Given the description of an element on the screen output the (x, y) to click on. 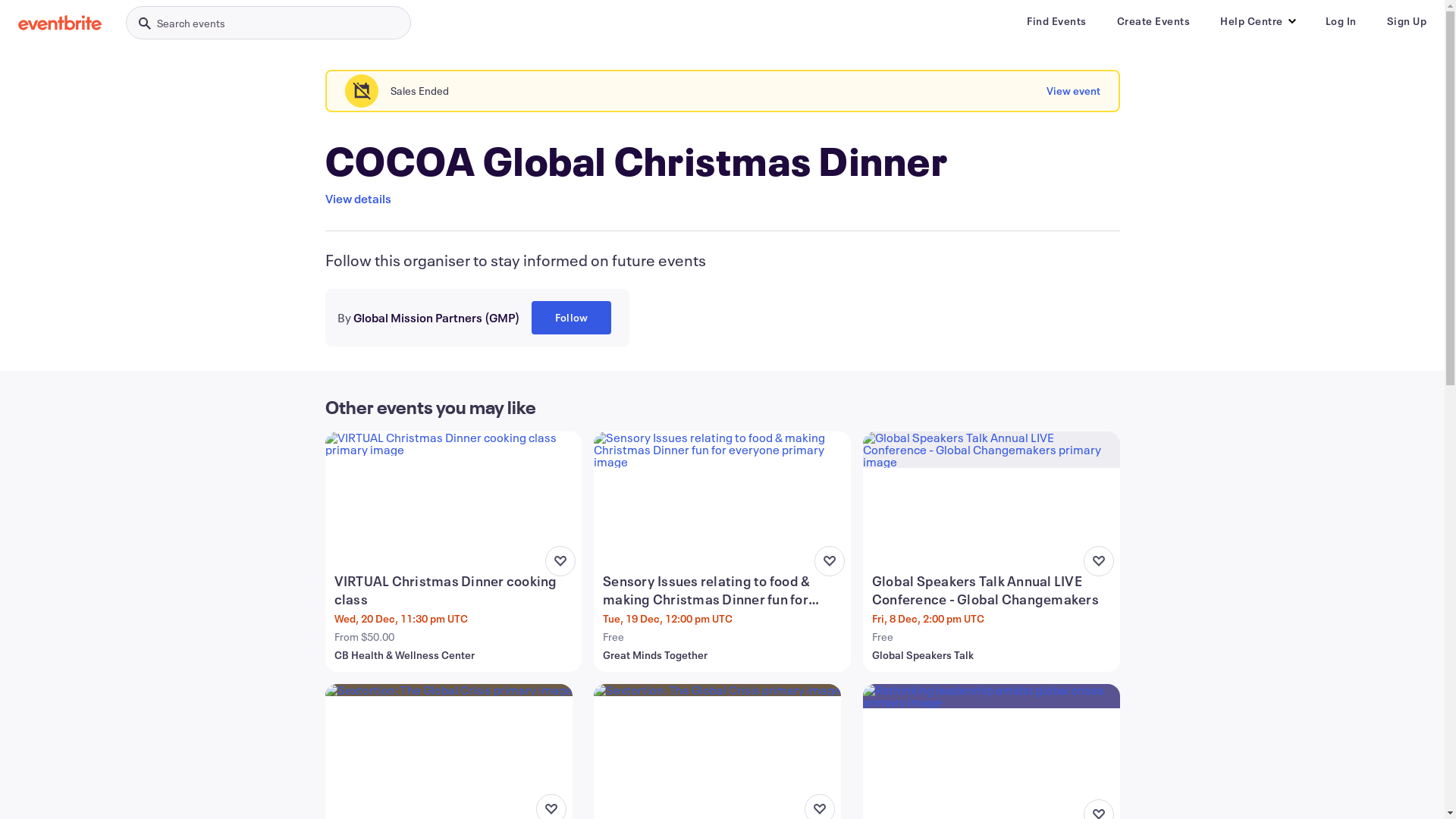
Search events Element type: text (268, 22)
Log In Element type: text (1340, 21)
Follow Element type: text (570, 317)
Create Events Element type: text (1152, 21)
VIRTUAL Christmas Dinner cooking class Element type: text (454, 589)
View details Element type: text (357, 198)
View event Element type: text (1073, 90)
Sign Up Element type: text (1406, 21)
Find Events Element type: text (1056, 21)
Eventbrite Element type: hover (59, 22)
